Given the description of an element on the screen output the (x, y) to click on. 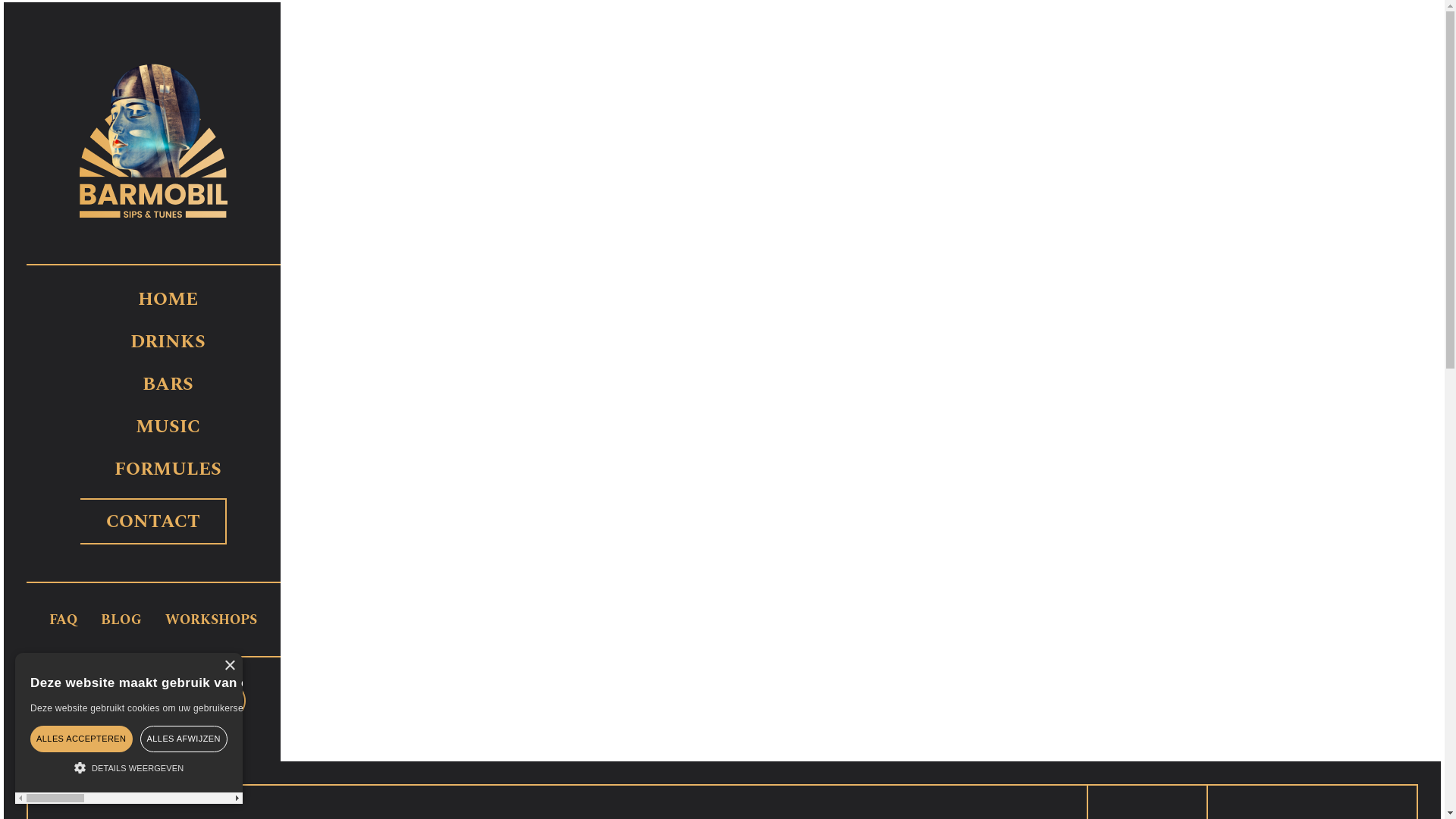
FAQ Element type: text (63, 619)
DRINKS Element type: text (167, 341)
BARS Element type: text (167, 384)
HOME Element type: text (167, 299)
FORMULES Element type: text (167, 469)
MUSIC Element type: text (167, 426)
BLOG Element type: text (120, 619)
WORKSHOPS Element type: text (211, 619)
CONTACT Element type: text (153, 521)
Lees verder Element type: text (802, 707)
